Given the description of an element on the screen output the (x, y) to click on. 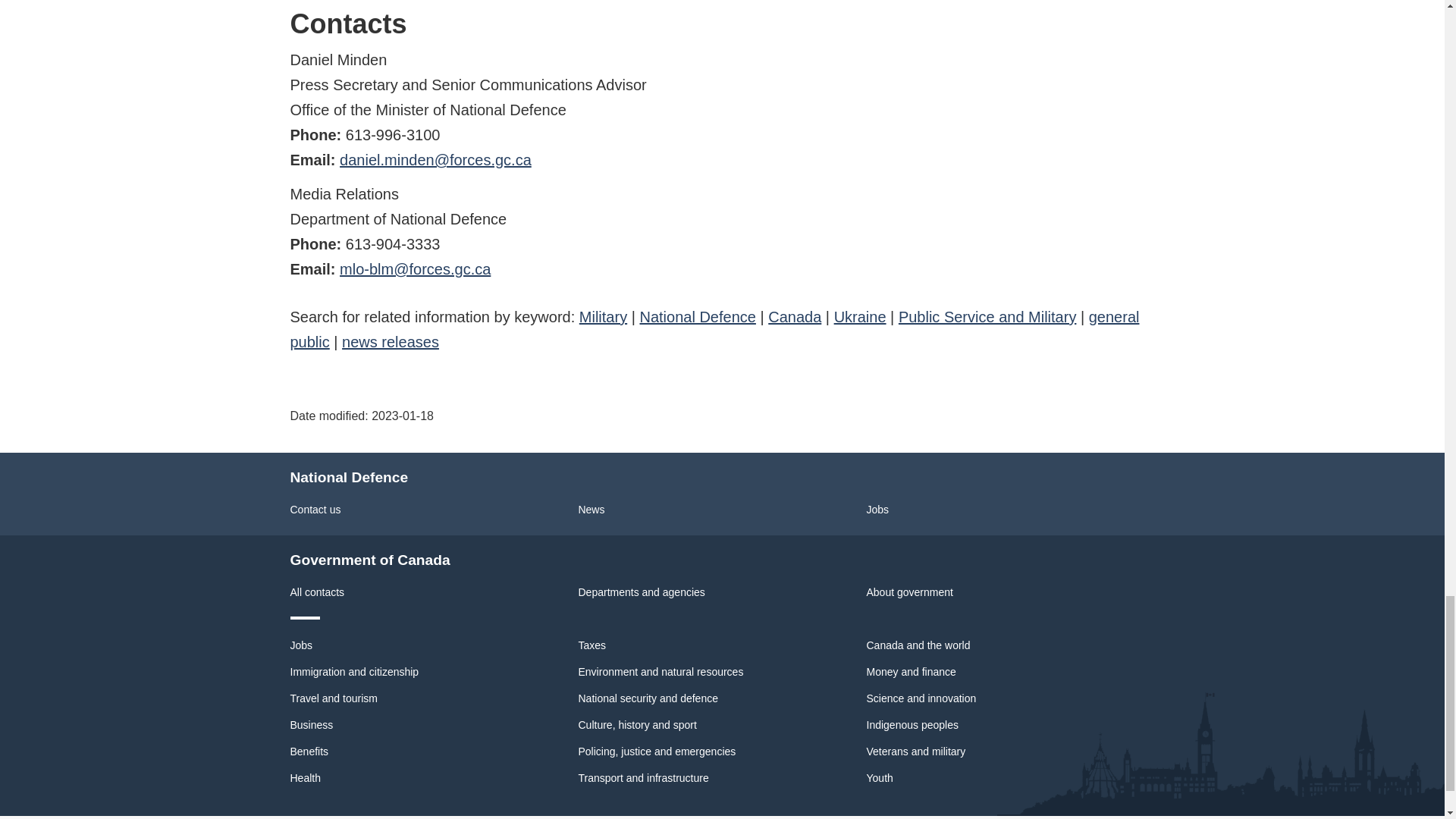
general public (713, 329)
news releases (390, 341)
News (591, 509)
National Defence (697, 316)
Military (603, 316)
Canada (794, 316)
Public Service and Military (987, 316)
Ukraine (860, 316)
Contact us (314, 509)
